Given the description of an element on the screen output the (x, y) to click on. 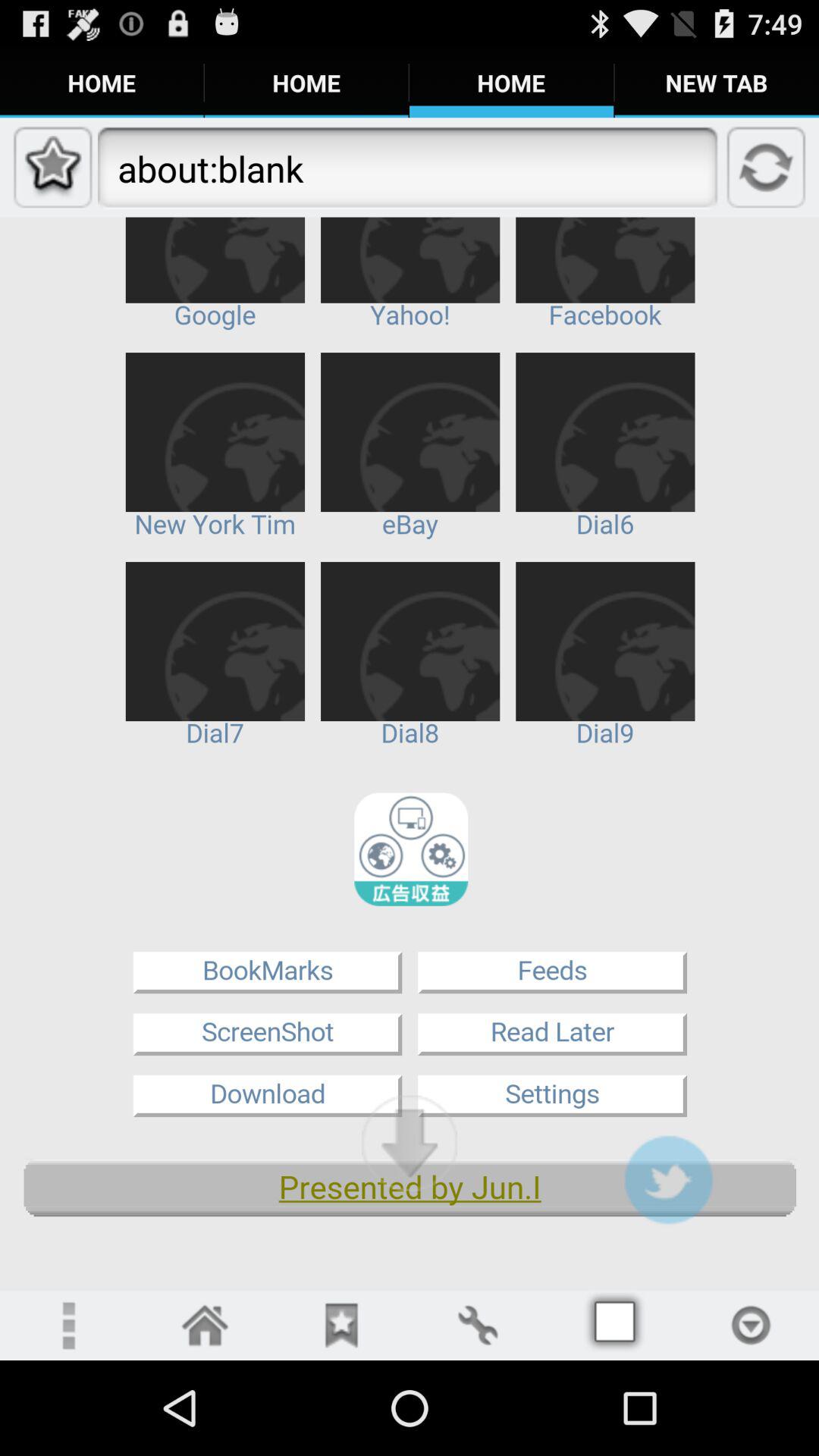
open more settings (68, 1325)
